Given the description of an element on the screen output the (x, y) to click on. 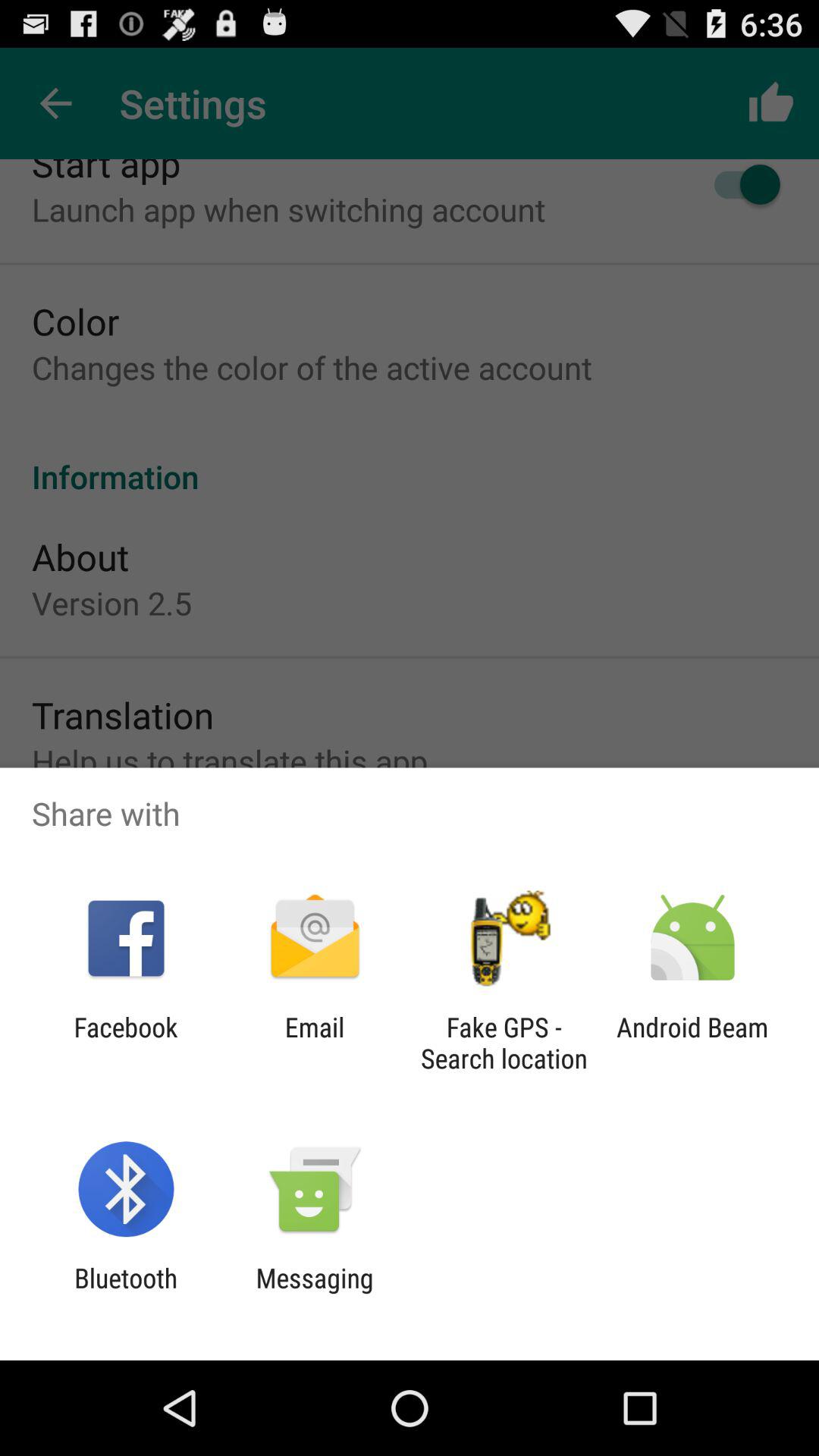
tap the app at the bottom right corner (692, 1042)
